Given the description of an element on the screen output the (x, y) to click on. 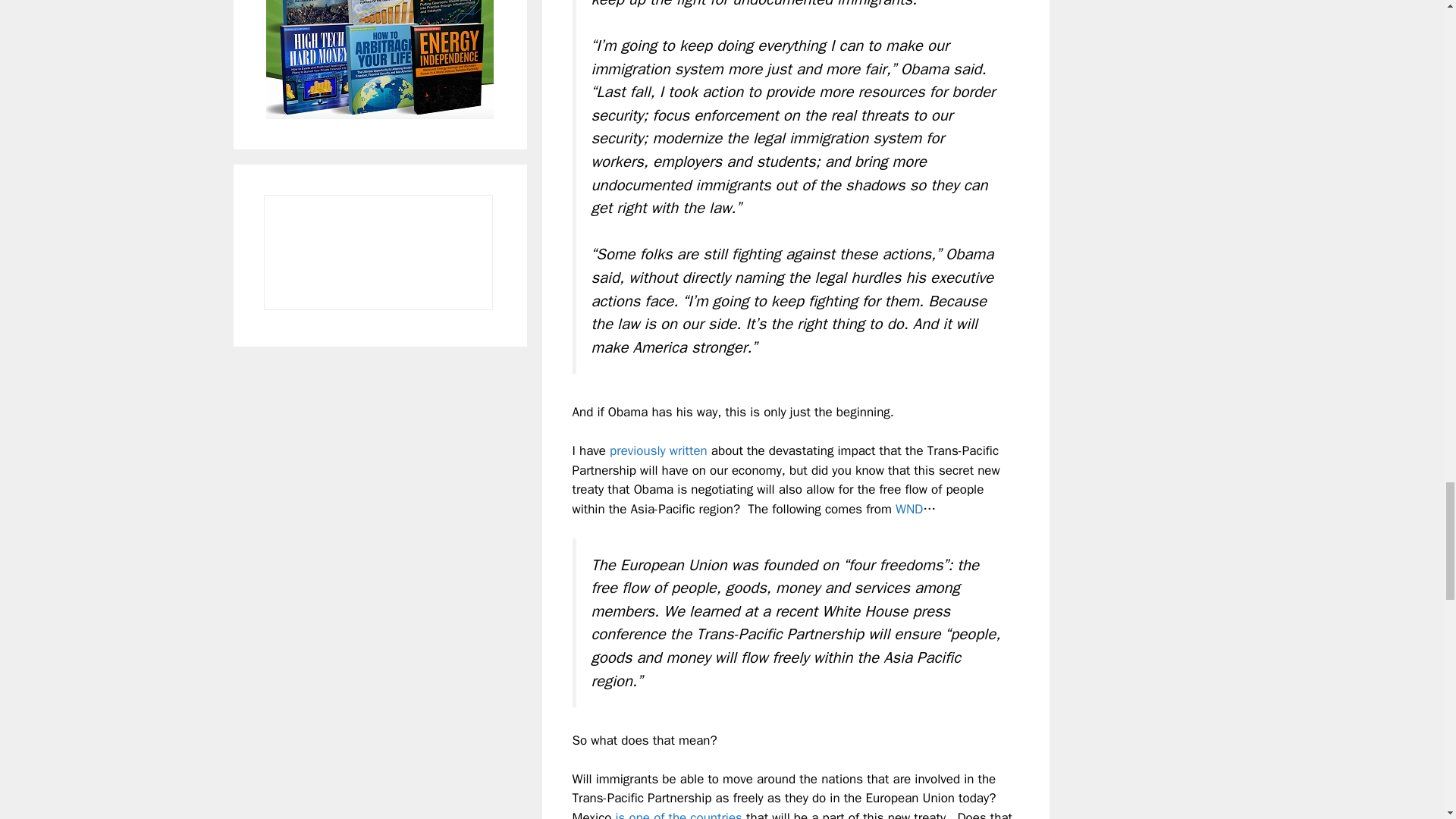
previously written (658, 450)
WND (909, 508)
is one of the countries (678, 814)
